Given the description of an element on the screen output the (x, y) to click on. 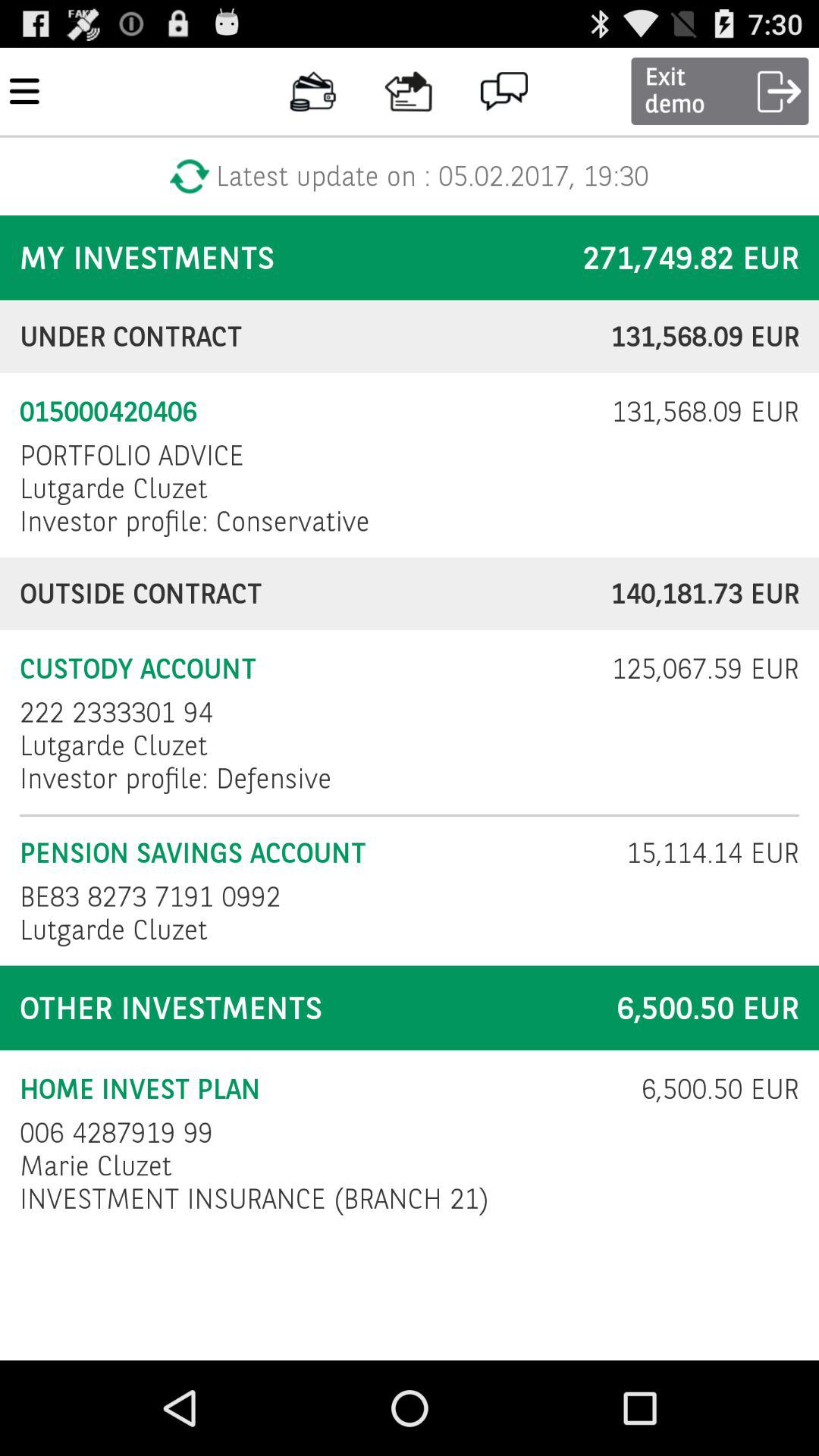
open the item above the portfolio advice icon (305, 411)
